Given the description of an element on the screen output the (x, y) to click on. 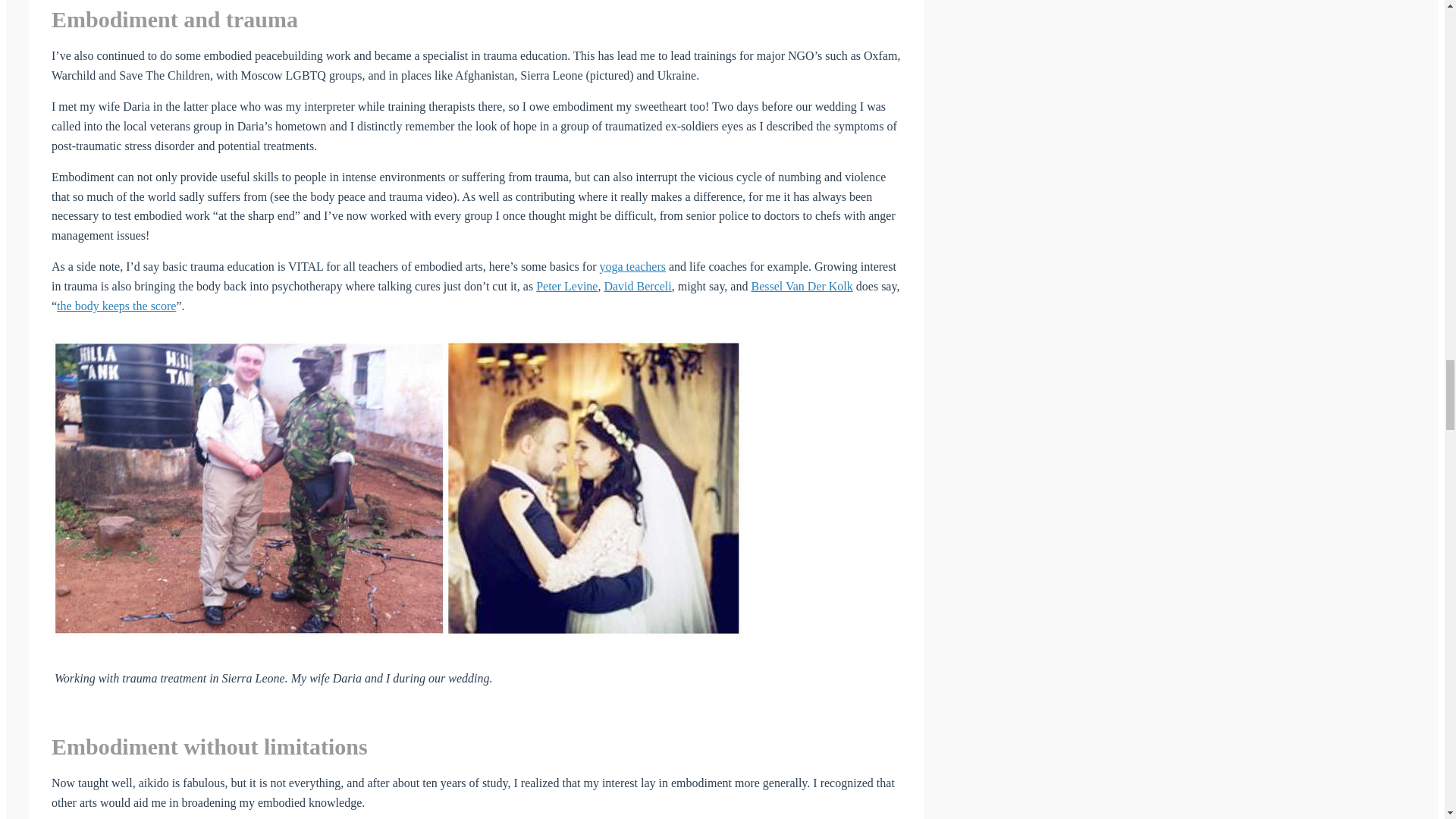
the body keeps the score (116, 305)
yoga teachers (631, 266)
Bessel Van Der Kolk (801, 286)
David Berceli (637, 286)
Peter Levine (565, 286)
